Given the description of an element on the screen output the (x, y) to click on. 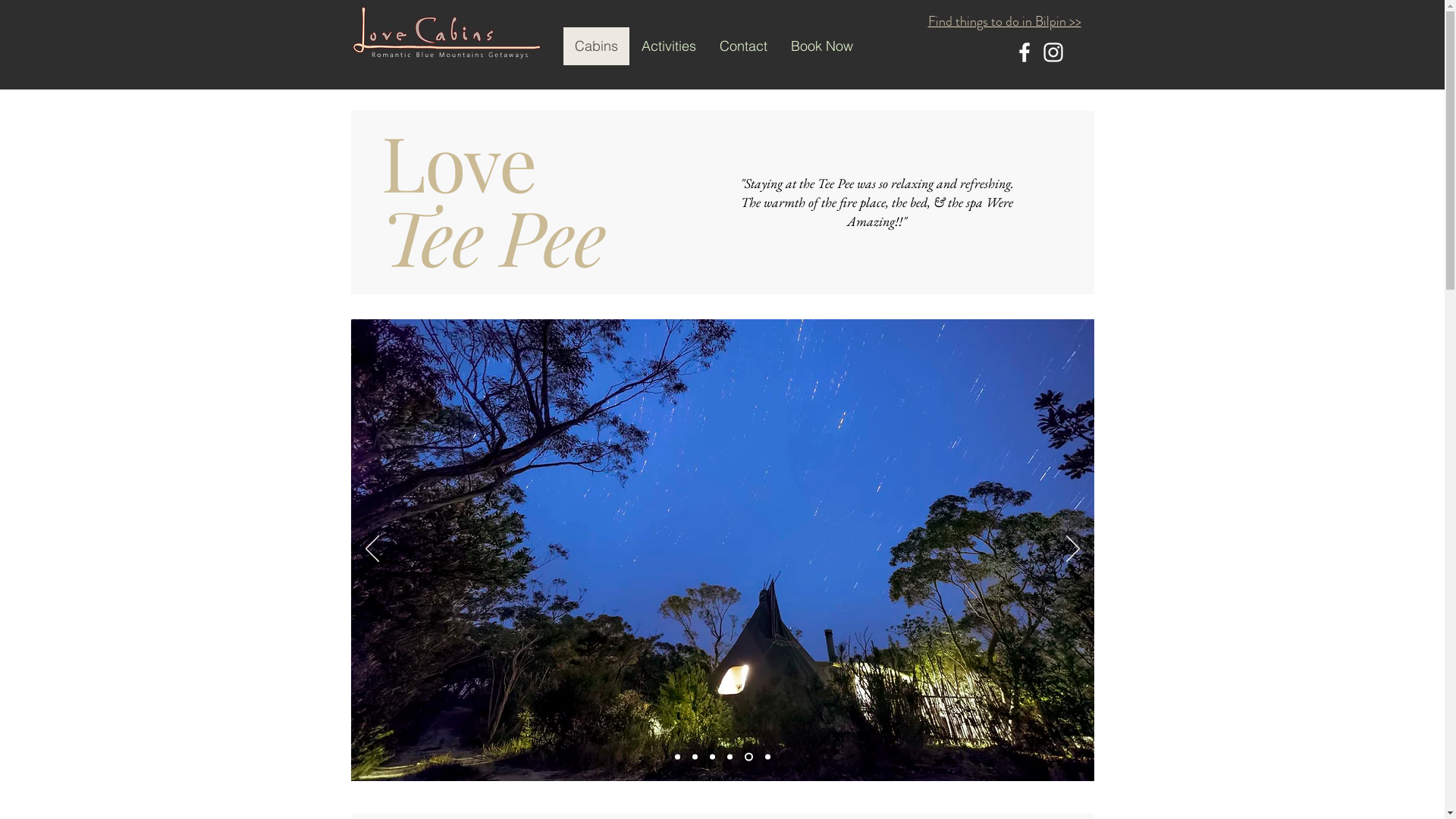
Cabins Element type: text (595, 46)
Book Now Element type: text (820, 46)
Contact Element type: text (742, 46)
Find things to do in Bilpin >> Element type: text (1004, 21)
